Given the description of an element on the screen output the (x, y) to click on. 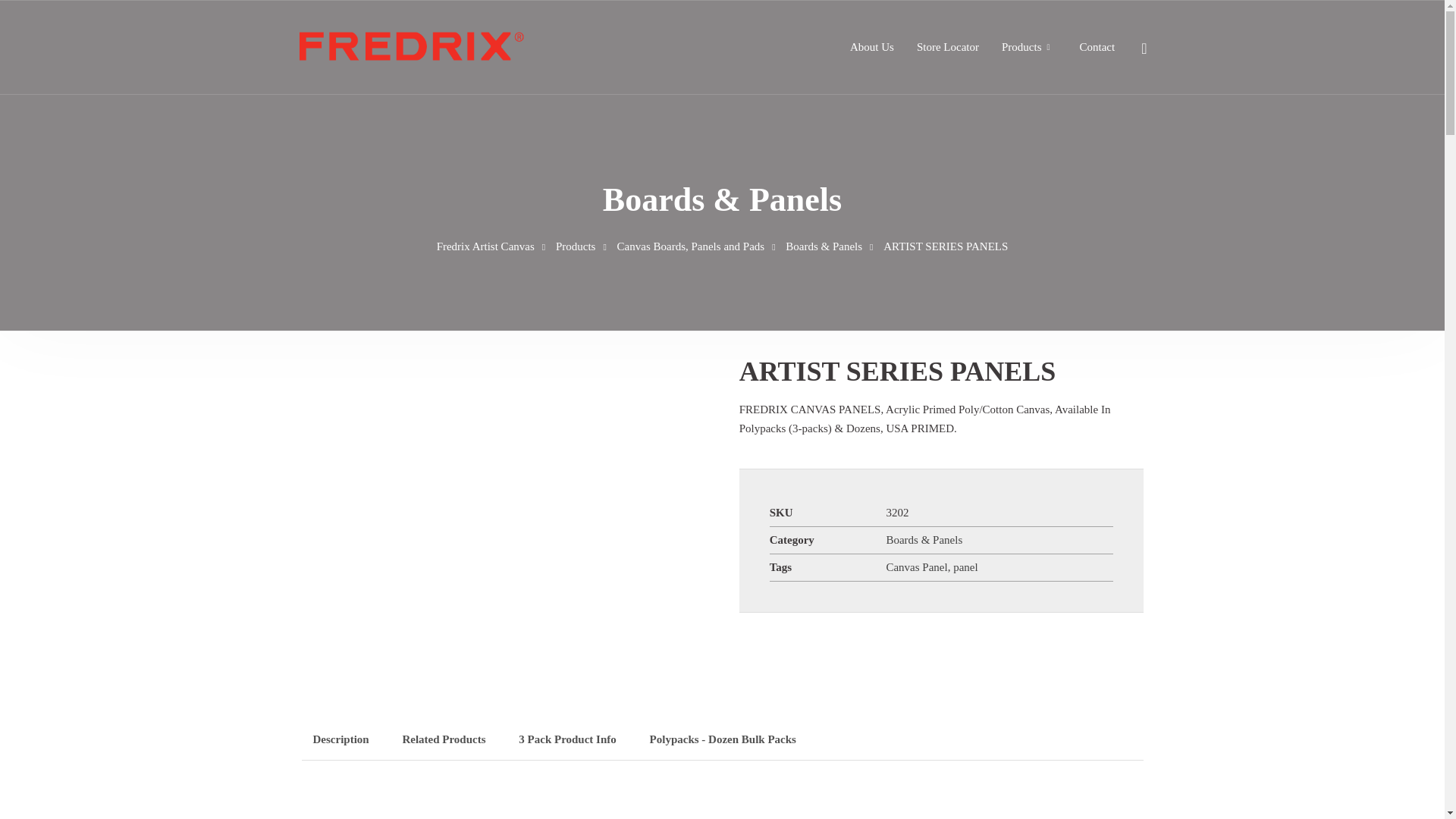
Go to Products. (575, 246)
3 Pack Product Info (566, 739)
Canvas Panel (916, 567)
Canvas Boards, Panels and Pads (691, 246)
Products (1021, 46)
Go to the Canvas Boards, Panels and Pads Category archives. (691, 246)
Contact (1097, 46)
About Us (871, 46)
panel (964, 567)
Store Locator (947, 46)
Products (575, 246)
Description (340, 739)
Polypacks - Dozen Bulk Packs (722, 739)
Go to Fredrix Artist Canvas. (485, 246)
Fredrix Artist Canvas (485, 246)
